Given the description of an element on the screen output the (x, y) to click on. 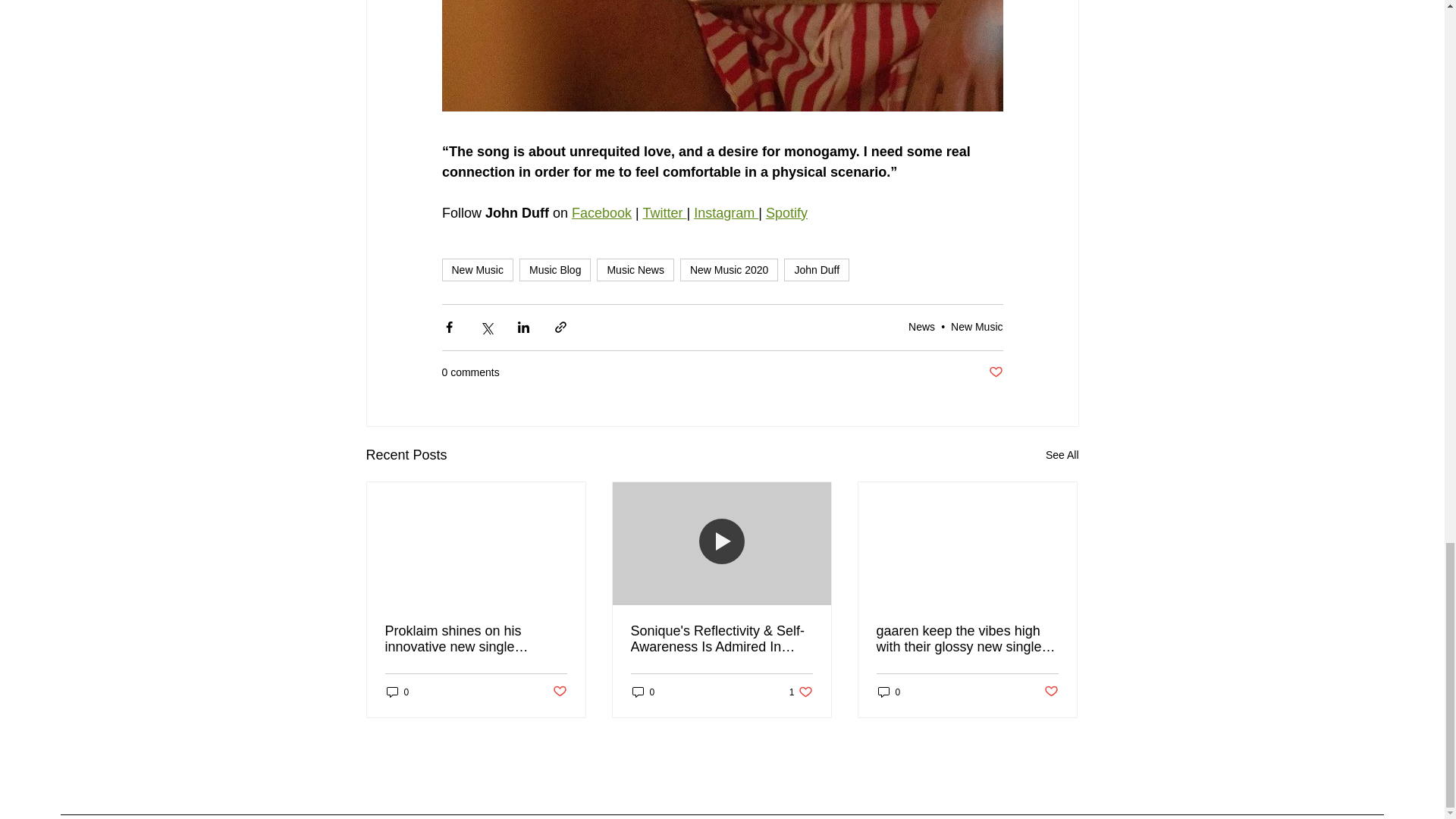
Twitter  (663, 212)
Music News (634, 269)
John Duff (816, 269)
New Music 2020 (728, 269)
News (921, 326)
Instagram  (726, 212)
0 (643, 691)
Proklaim shines on his innovative new single 'BABYLON' (476, 639)
Post not marked as liked (558, 691)
See All (1061, 455)
